Given the description of an element on the screen output the (x, y) to click on. 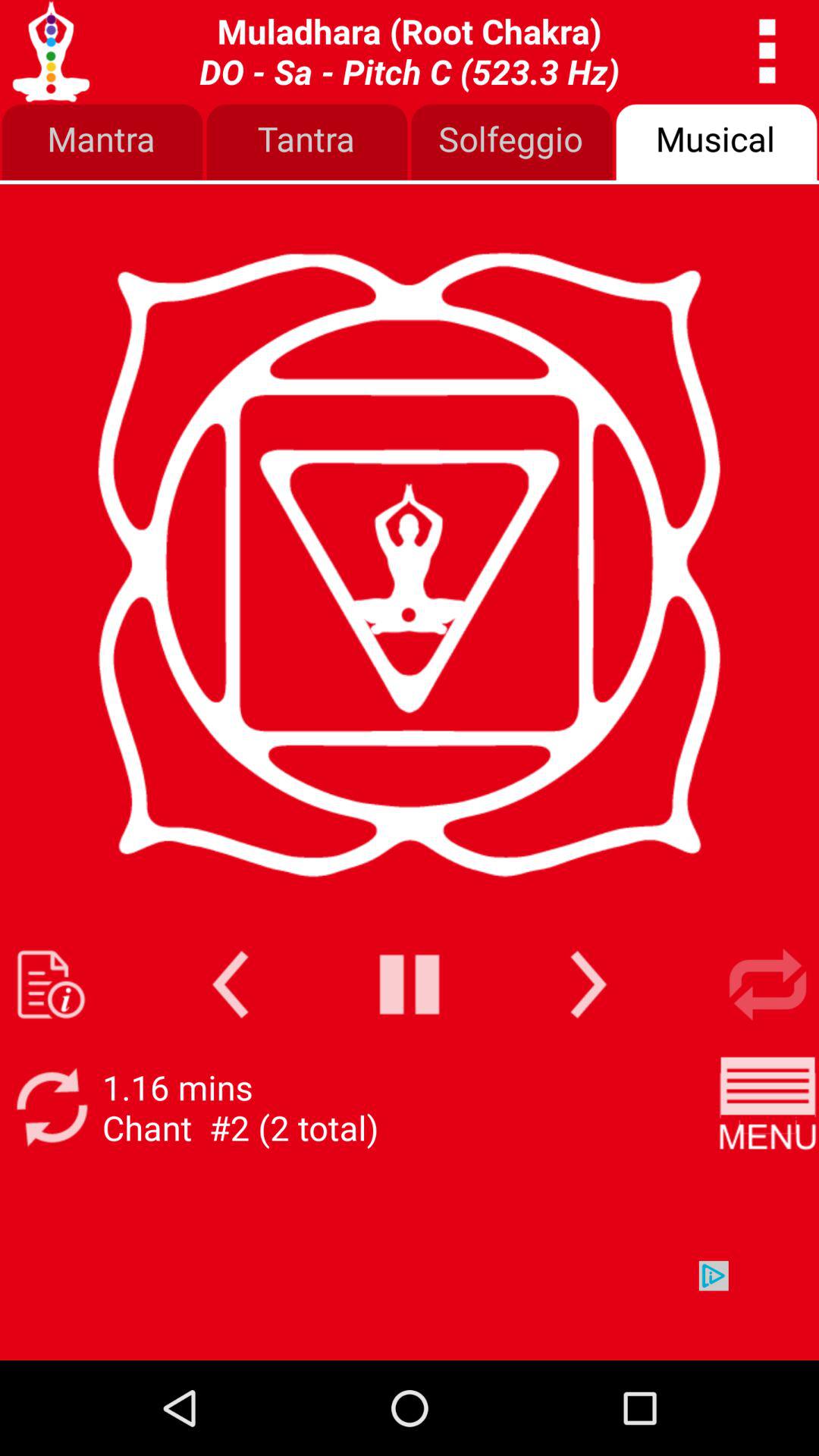
menu option (767, 1107)
